Given the description of an element on the screen output the (x, y) to click on. 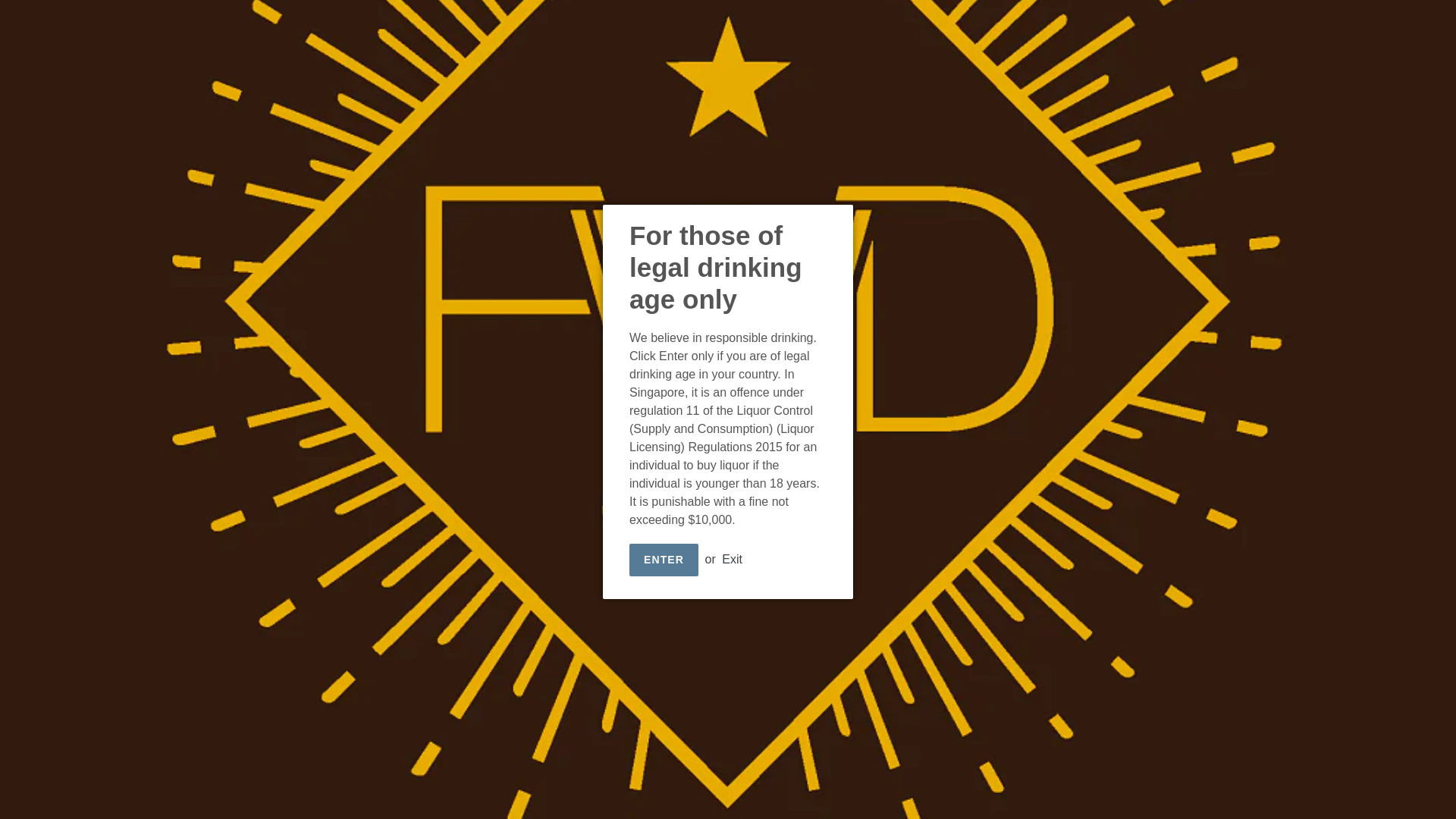
Submit (1324, 38)
ENTER (663, 559)
Home (625, 38)
Exit (732, 558)
About Us (753, 38)
Cart (1395, 38)
Log in (1360, 38)
